Given the description of an element on the screen output the (x, y) to click on. 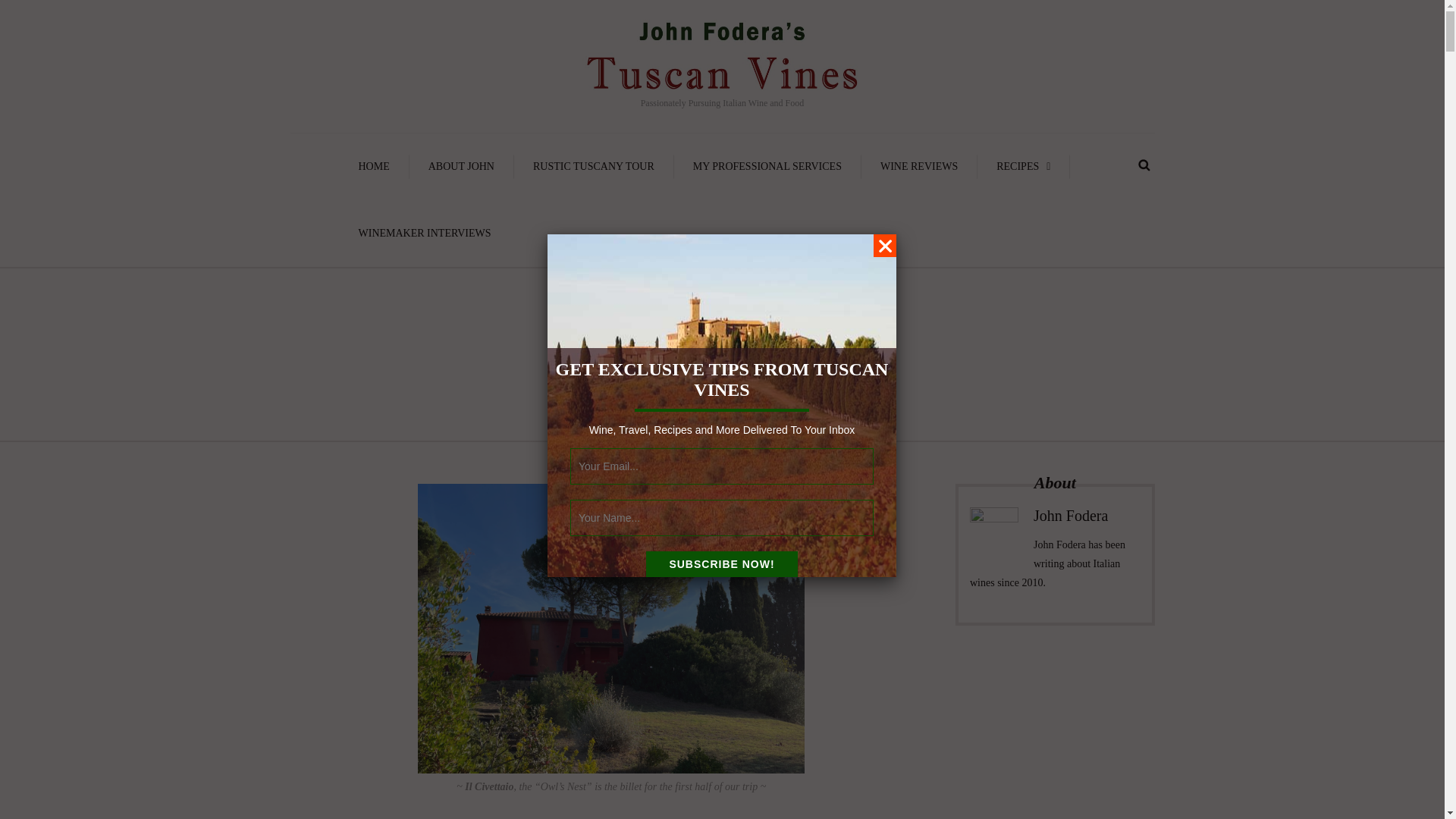
Share this (687, 395)
HOME (374, 166)
Tweet this (710, 395)
WINE REVIEWS (774, 369)
Pin this (755, 395)
WINE REVIEWS (918, 166)
Subscribe Now! (721, 564)
John Fodera (668, 369)
Share with Google Plus (733, 395)
MY PROFESSIONAL SERVICES (767, 166)
ABOUT JOHN (461, 166)
RUSTIC TUSCANY TOUR (593, 166)
RECIPES (1023, 166)
Posts by John Fodera (668, 369)
WINEMAKER INTERVIEWS (425, 233)
